Given the description of an element on the screen output the (x, y) to click on. 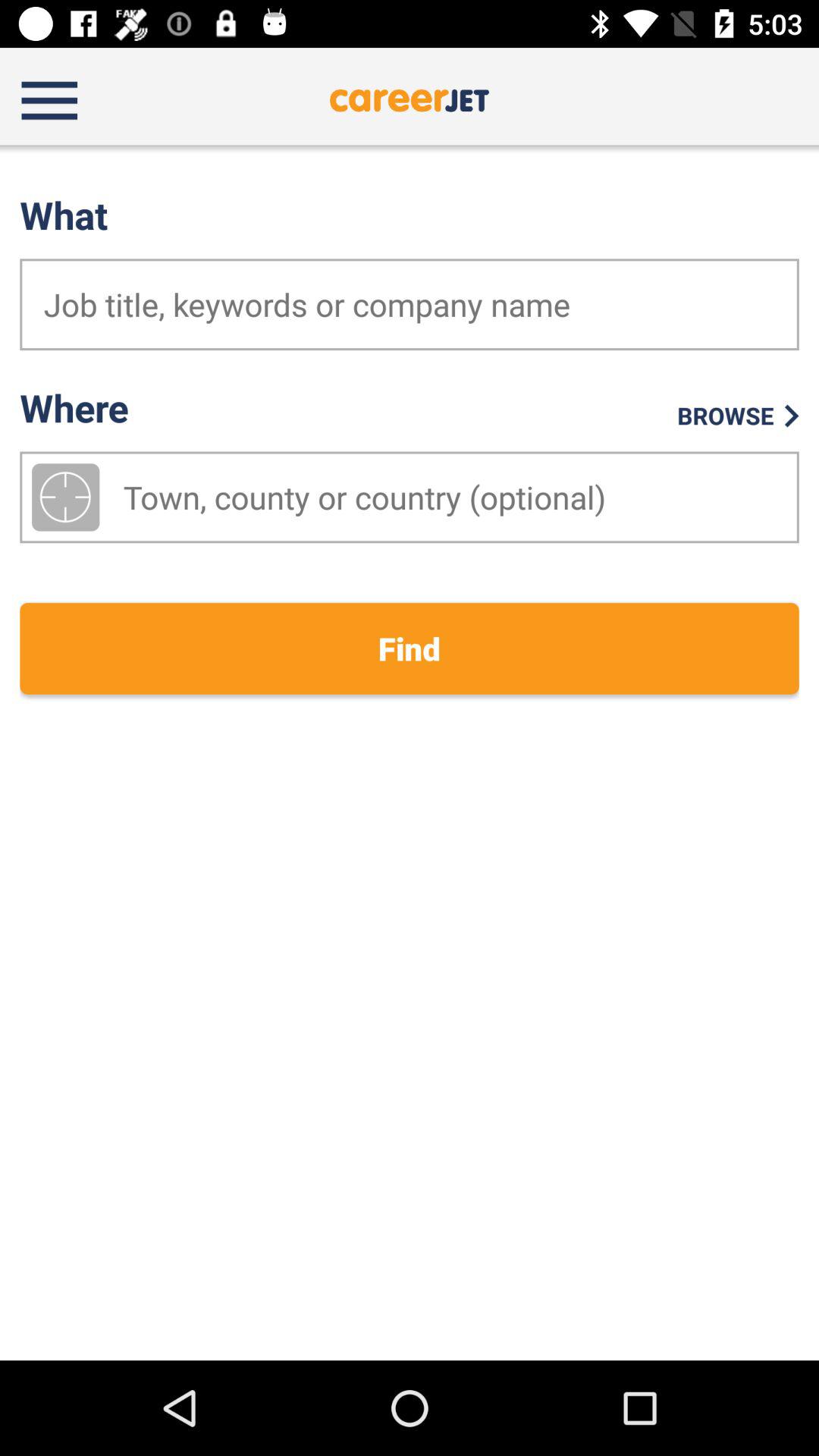
press the find item (409, 648)
